Given the description of an element on the screen output the (x, y) to click on. 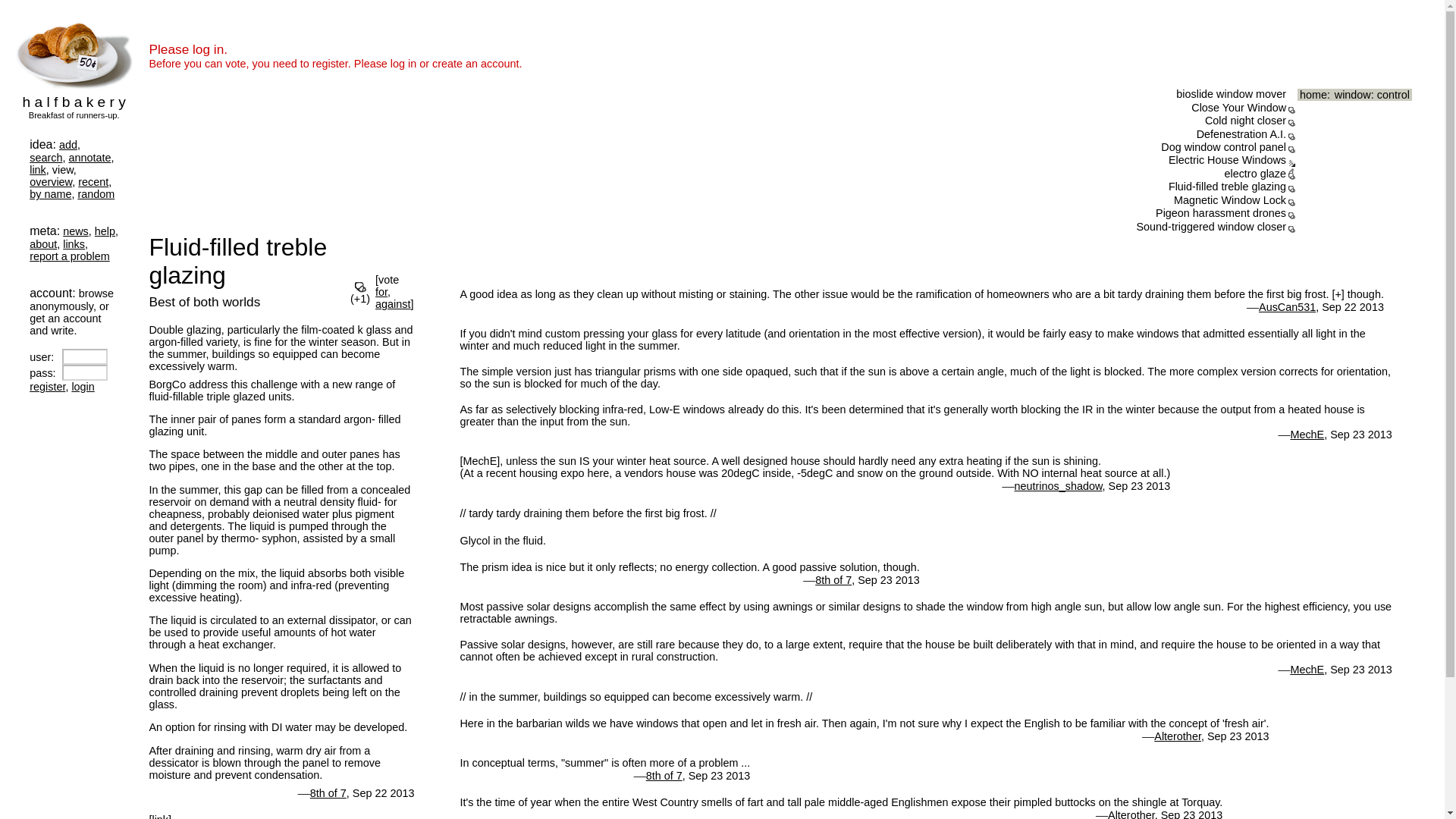
Sound-triggered window closer (1210, 226)
annotate (89, 157)
report a problem (69, 256)
Cold night closer (1245, 120)
Defenestration A.I. (1240, 133)
bioslide window mover (1230, 93)
Electric House Windows (1227, 159)
search (45, 157)
random (96, 193)
by name (50, 193)
